Given the description of an element on the screen output the (x, y) to click on. 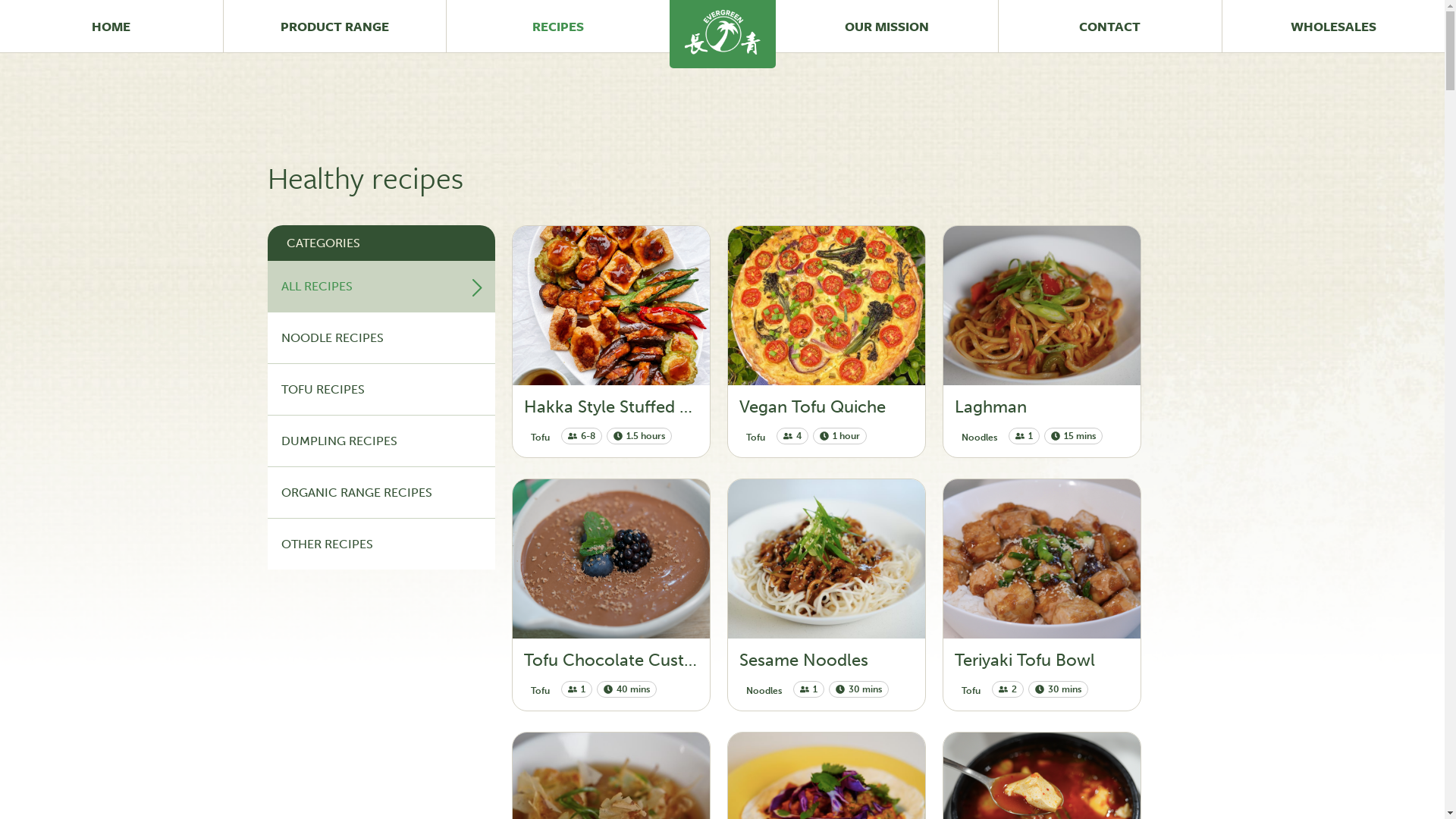
Sesame Noodles
Noodles
1
30 mins Element type: text (826, 594)
OTHER RECIPES Element type: text (380, 543)
Tofu Chocolate Custard
Tofu
1
40 mins Element type: text (610, 594)
Vegan Tofu Quiche
Tofu
4
1 hour Element type: text (826, 341)
PRODUCT RANGE Element type: text (334, 25)
ORGANIC RANGE RECIPES Element type: text (380, 492)
Hakka Style Stuffed Tofu (Yong Tau Foo)
Tofu
6-8
1.5 hours Element type: text (610, 341)
TOFU RECIPES Element type: text (380, 389)
WHOLESALES Element type: text (1333, 25)
NOODLE RECIPES Element type: text (380, 337)
OUR MISSION Element type: text (886, 25)
CONTACT Element type: text (1109, 25)
Teriyaki Tofu Bowl
Tofu
2
30 mins Element type: text (1041, 594)
ALL RECIPES Element type: text (380, 285)
DUMPLING RECIPES Element type: text (380, 440)
Laghman
Noodles
1
15 mins Element type: text (1041, 341)
RECIPES Element type: text (557, 25)
HOME Element type: text (110, 25)
